Given the description of an element on the screen output the (x, y) to click on. 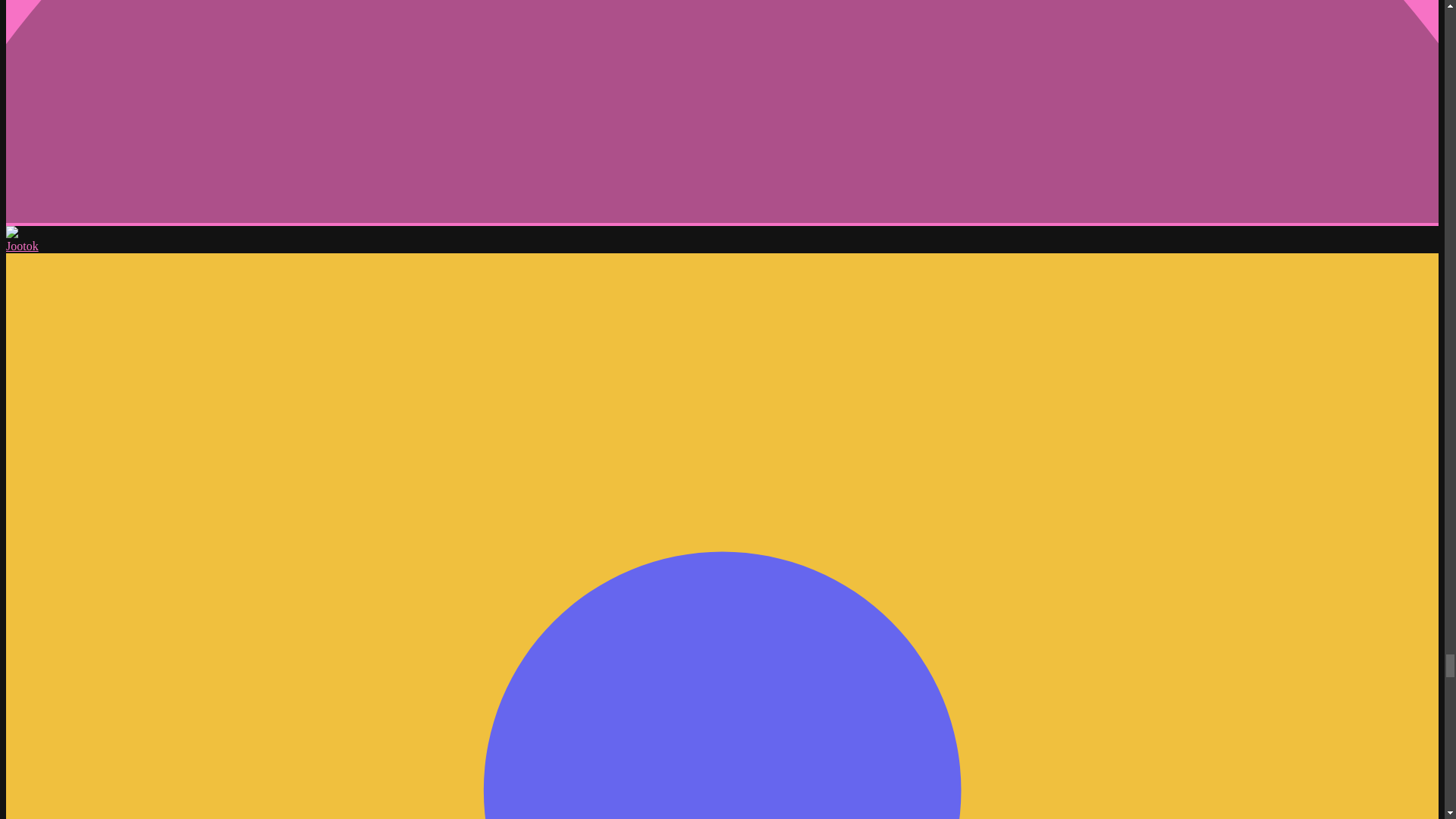
Jootok (22, 245)
